Given the description of an element on the screen output the (x, y) to click on. 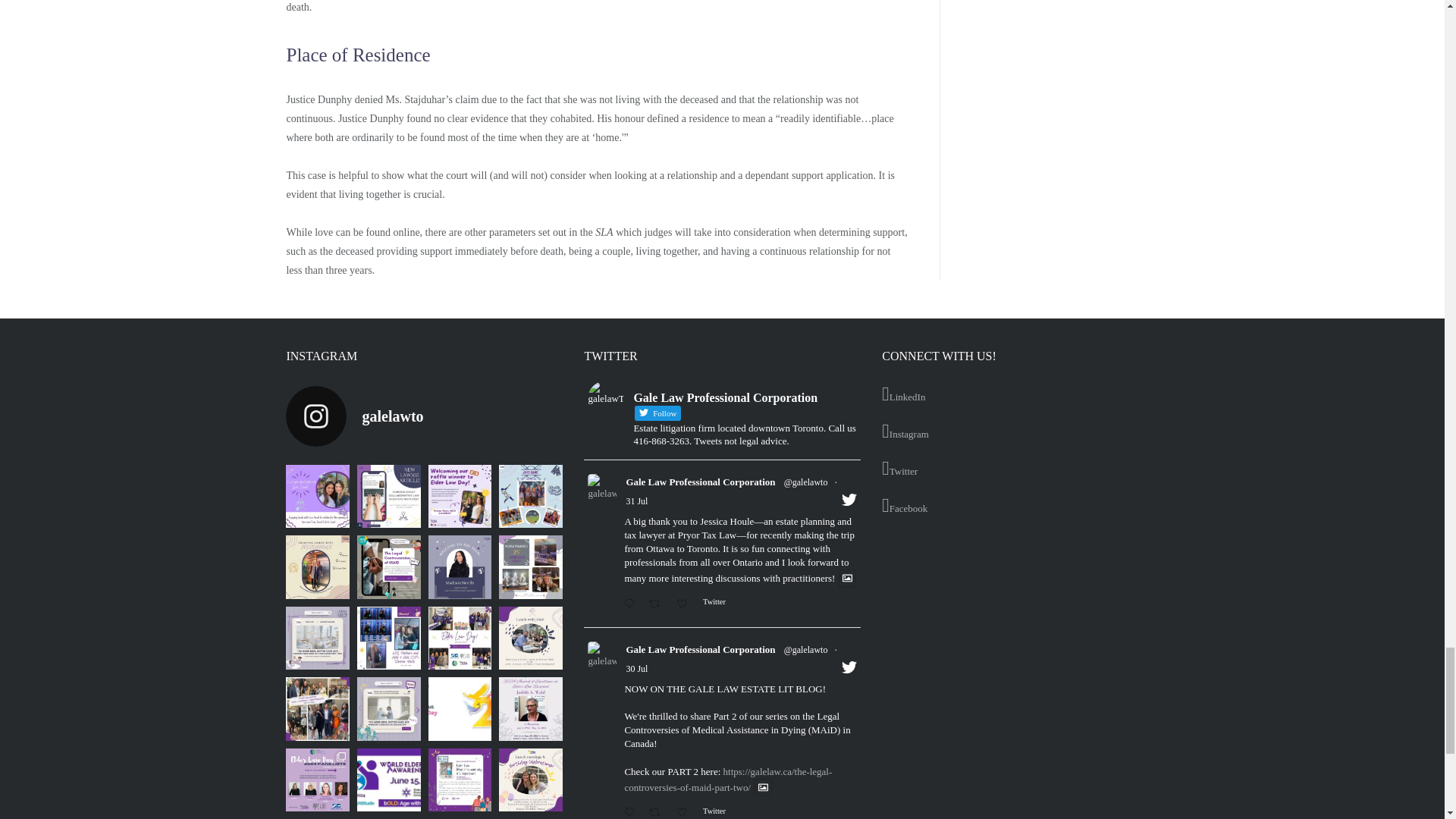
Visit Gale Law Professional Corporation on Twitter (1019, 469)
Visit Gale Law Professional Corporation on Instagram (1019, 432)
Visit Gale Law Professional Corporation on Facebook (1019, 506)
Visit Gale Law Professional Corporation on LinkedIn (1019, 395)
